Given the description of an element on the screen output the (x, y) to click on. 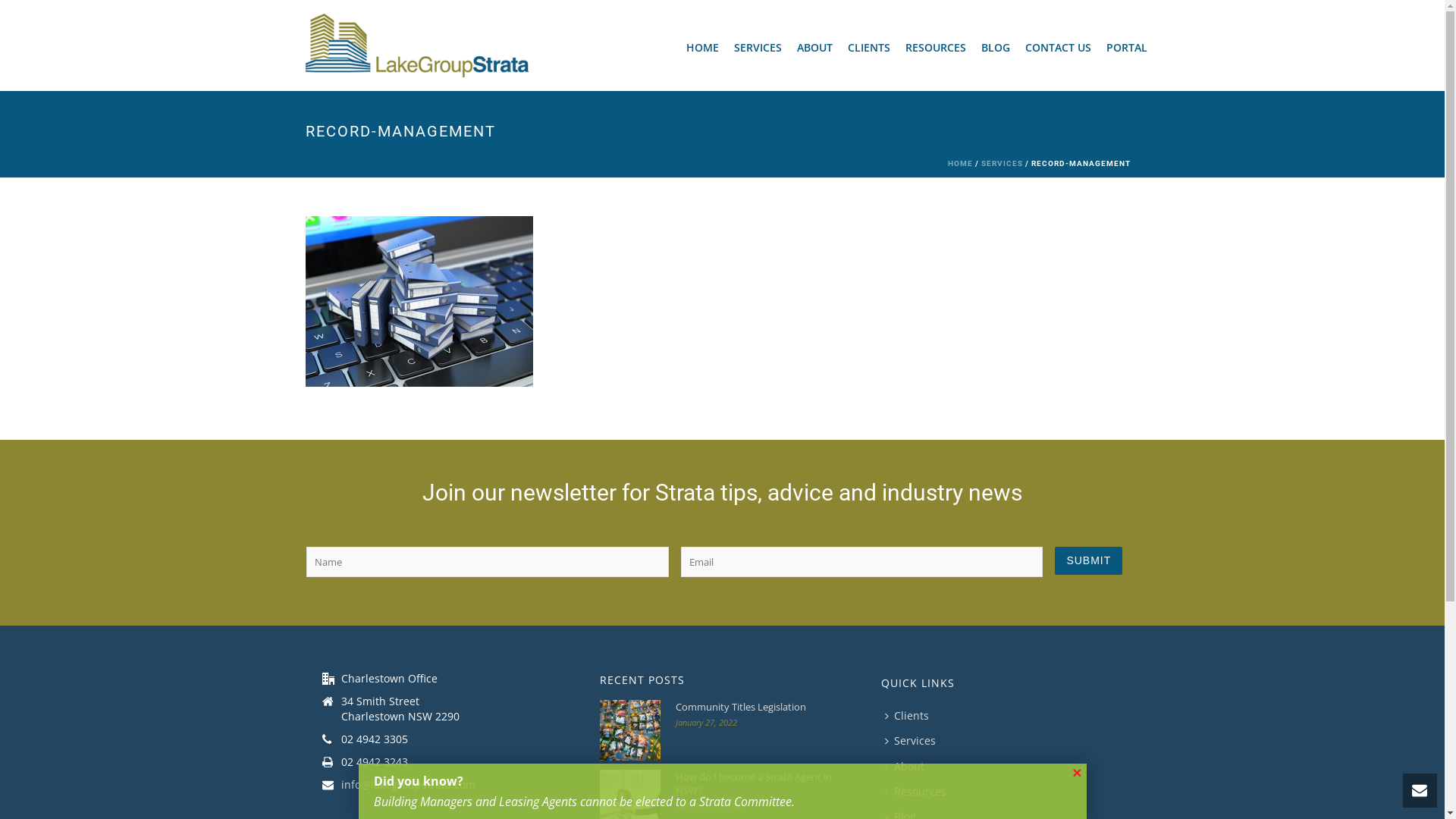
Resources Element type: text (919, 790)
Community Titles Legislation Element type: hover (629, 729)
info@lakegroupstrata.com Element type: text (408, 784)
BLOG Element type: text (995, 45)
CONTACT US Element type: text (1057, 45)
About Element type: text (908, 765)
SERVICES Element type: text (757, 45)
Services Element type: text (914, 740)
Community Titles Legislation Element type: text (756, 706)
ABOUT Element type: text (813, 45)
RESOURCES Element type: text (935, 45)
HOME Element type: text (701, 45)
Submit Element type: text (1088, 560)
Lake Group Strata Element type: hover (415, 45)
PORTAL Element type: text (1126, 45)
How do I become a Strata Agent in NSW? Element type: text (756, 783)
SERVICES Element type: text (1001, 163)
Clients Element type: text (910, 715)
HOME Element type: text (959, 163)
CLIENTS Element type: text (868, 45)
